Given the description of an element on the screen output the (x, y) to click on. 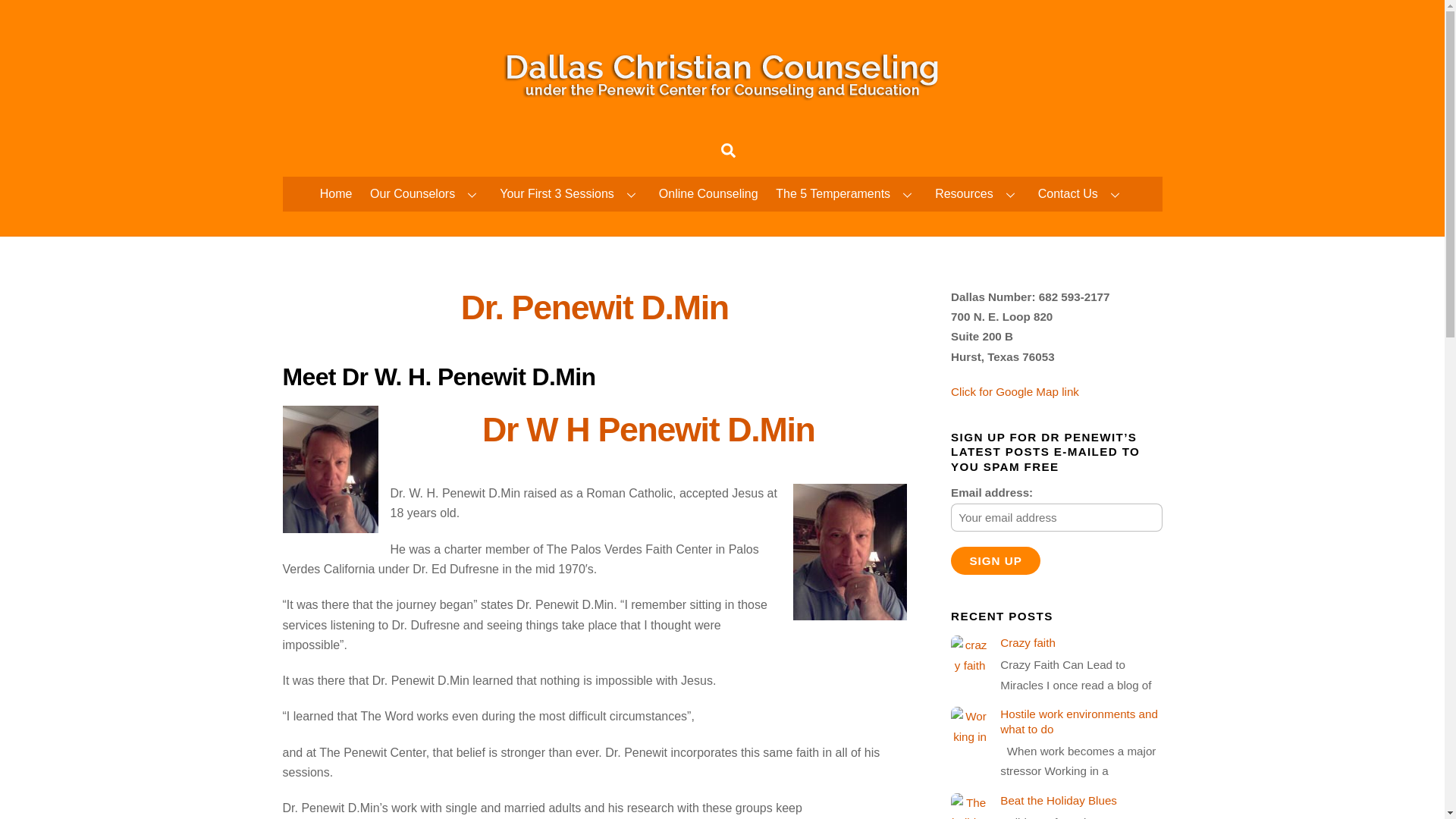
Crazy faith (1055, 642)
Click for Google Map link (1014, 391)
Dallas Christian Counseling (722, 111)
Beat the Holiday Blues (1055, 800)
Your First 3 Sessions (570, 193)
Sign up (995, 560)
Resources (977, 193)
Contact Us (1081, 193)
Our Counselors (425, 193)
